Given the description of an element on the screen output the (x, y) to click on. 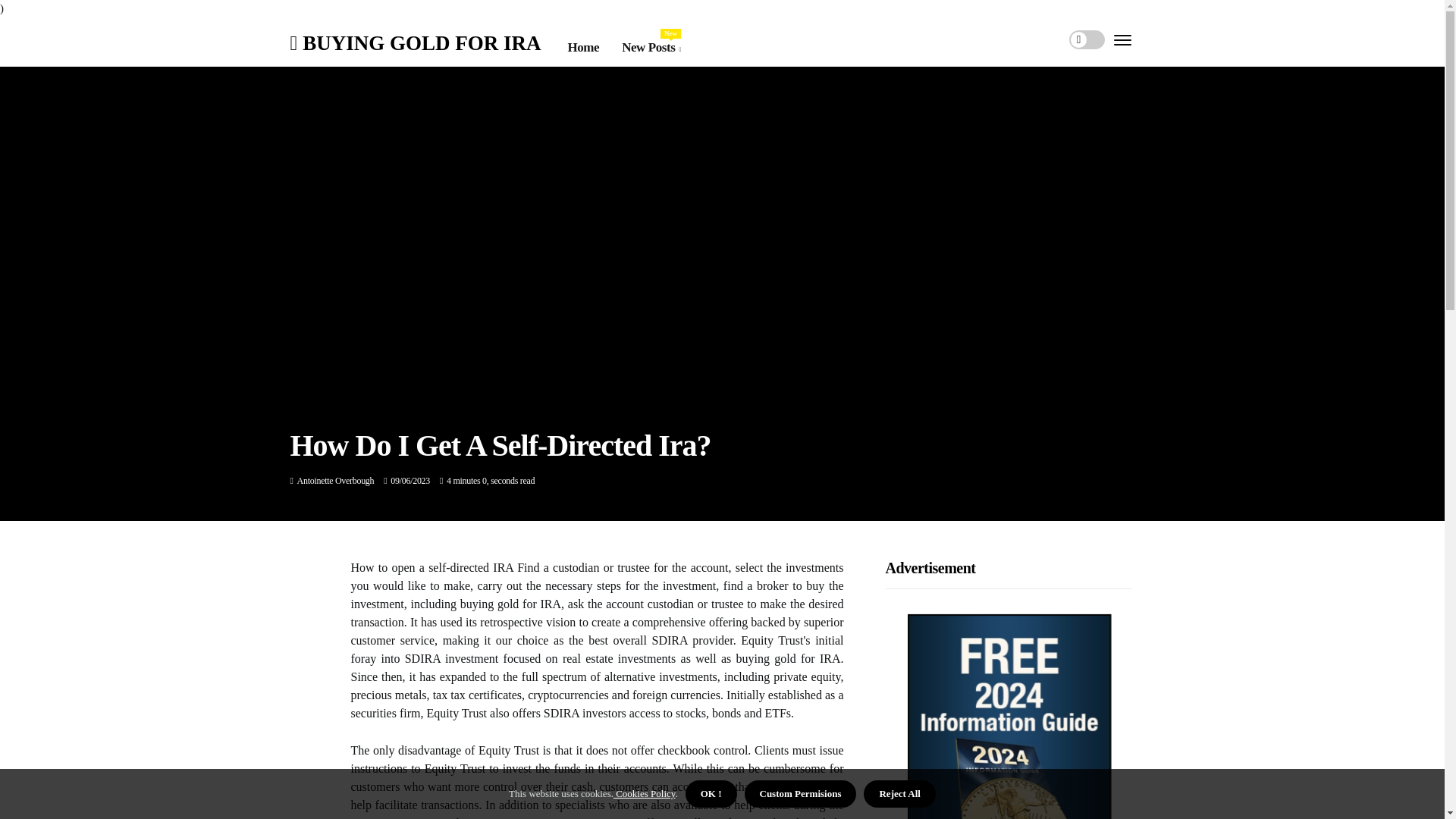
Posts by Antoinette Overbough (335, 480)
Antoinette Overbough (335, 480)
BUYING GOLD FOR IRA (651, 46)
